Given the description of an element on the screen output the (x, y) to click on. 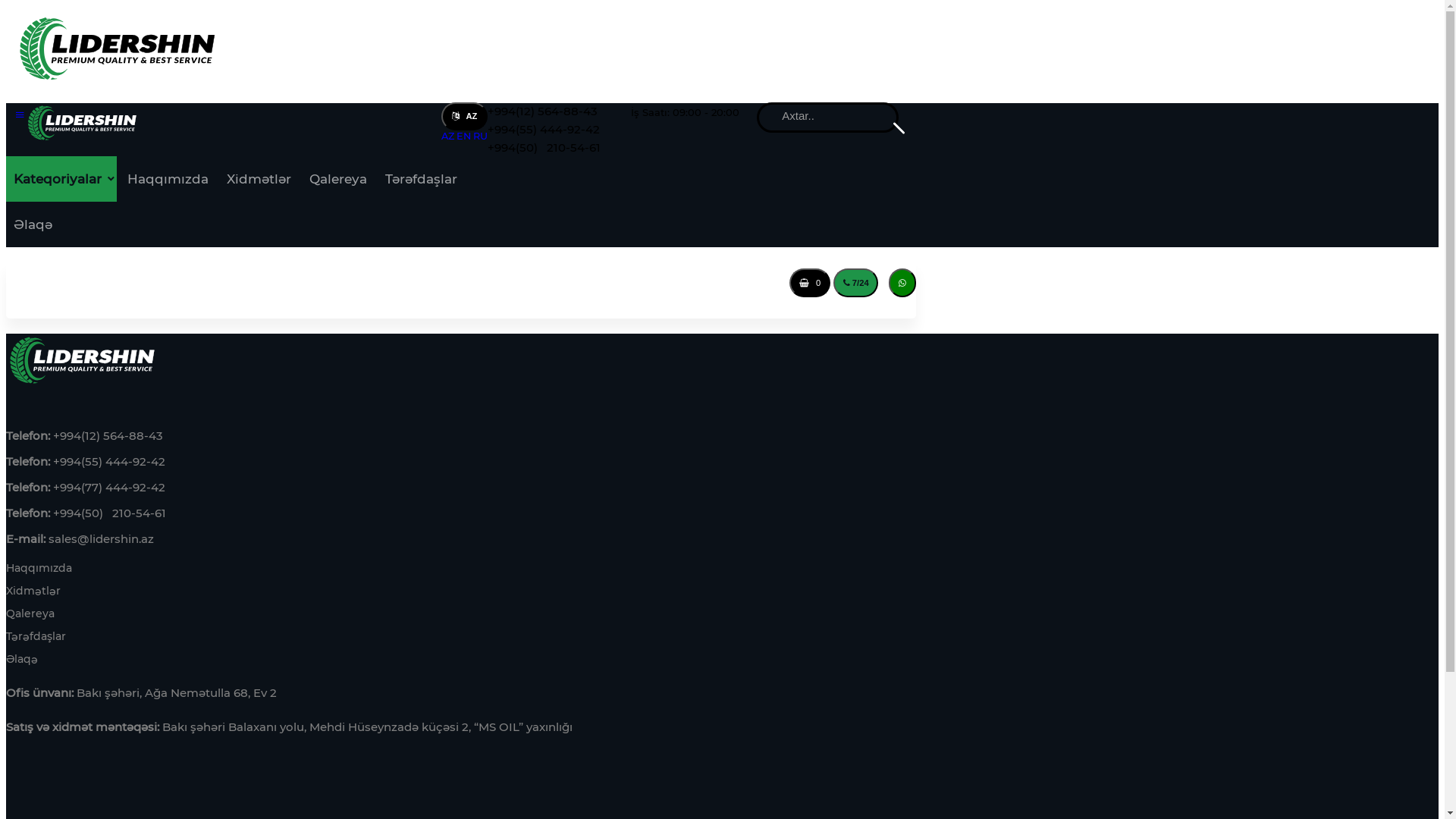
Giris Element type: text (696, 281)
+994(12) 564-88-43 Element type: text (542, 111)
Kateqoriyalar Element type: text (61, 178)
AZ Element type: text (447, 135)
EN Element type: text (463, 135)
Qalereya Element type: text (337, 178)
+994(50)   210-54-61 Element type: text (543, 147)
Qalereya Element type: text (30, 613)
RU Element type: text (480, 135)
7/24 Element type: text (855, 282)
  AZ Element type: text (464, 116)
+994(55) 444-92-42 Element type: text (543, 129)
Qeydiyyat Element type: text (630, 281)
  0 Element type: text (809, 282)
